Given the description of an element on the screen output the (x, y) to click on. 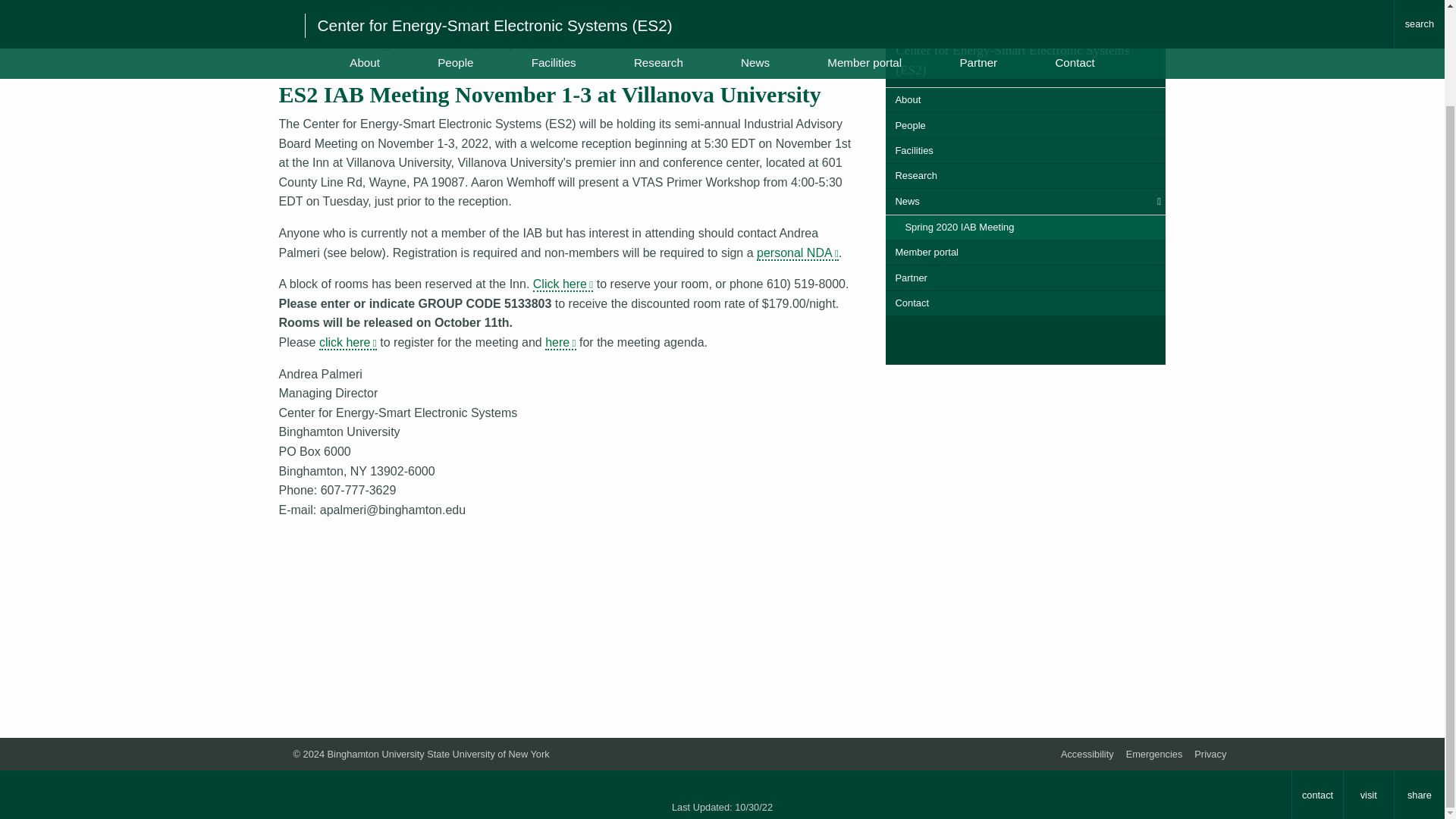
Contact (1025, 303)
Accessibility (1086, 754)
Member portal (1025, 252)
personal NDA (797, 253)
Home (291, 44)
Click here (563, 284)
Privacy (1209, 754)
News (556, 44)
Emergencies (1154, 754)
Facilities (1025, 150)
Partner (1025, 277)
News (1025, 201)
About (1025, 100)
Research (1025, 176)
People (1025, 125)
